Given the description of an element on the screen output the (x, y) to click on. 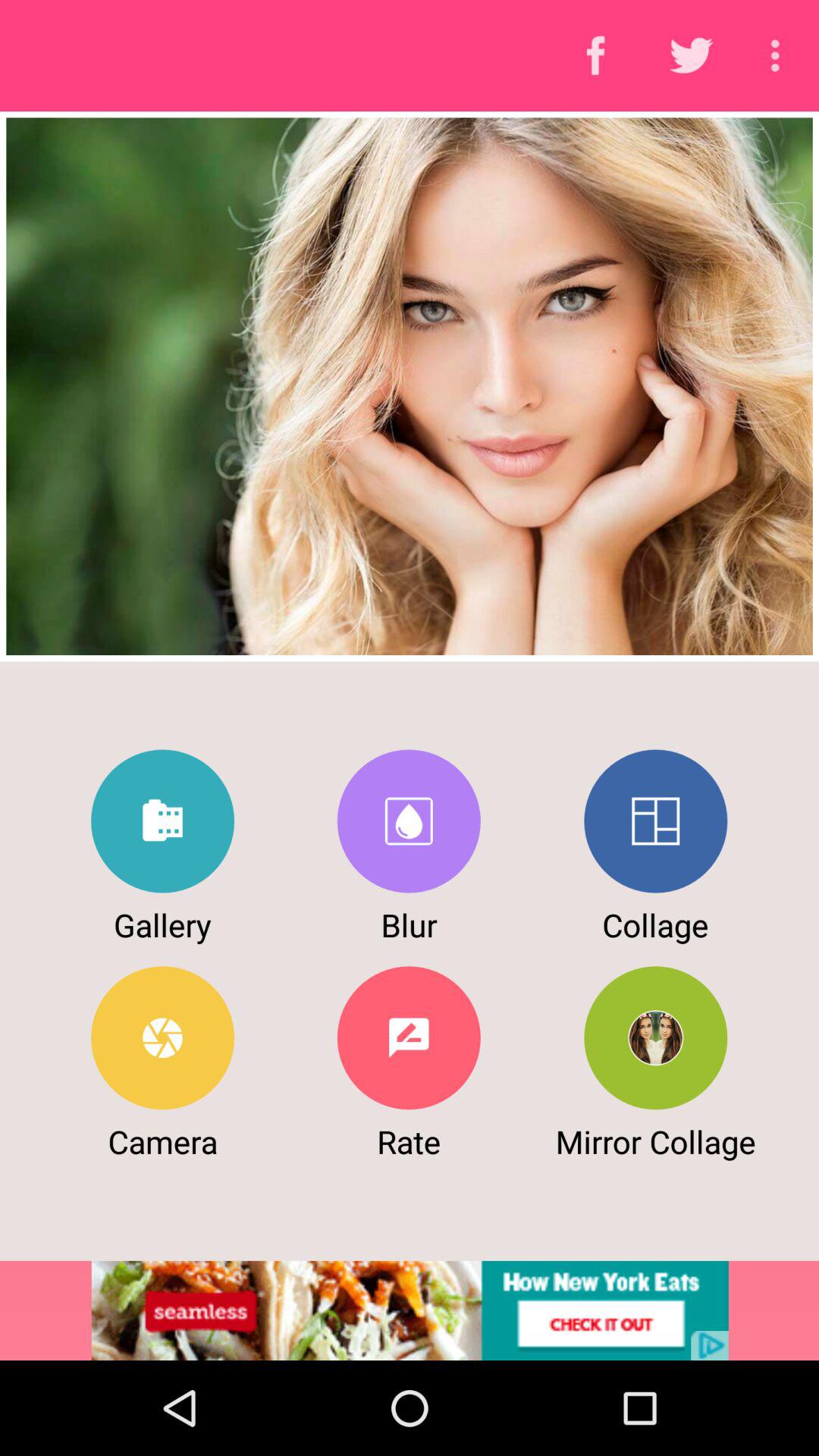
open advertisement (409, 1310)
